Given the description of an element on the screen output the (x, y) to click on. 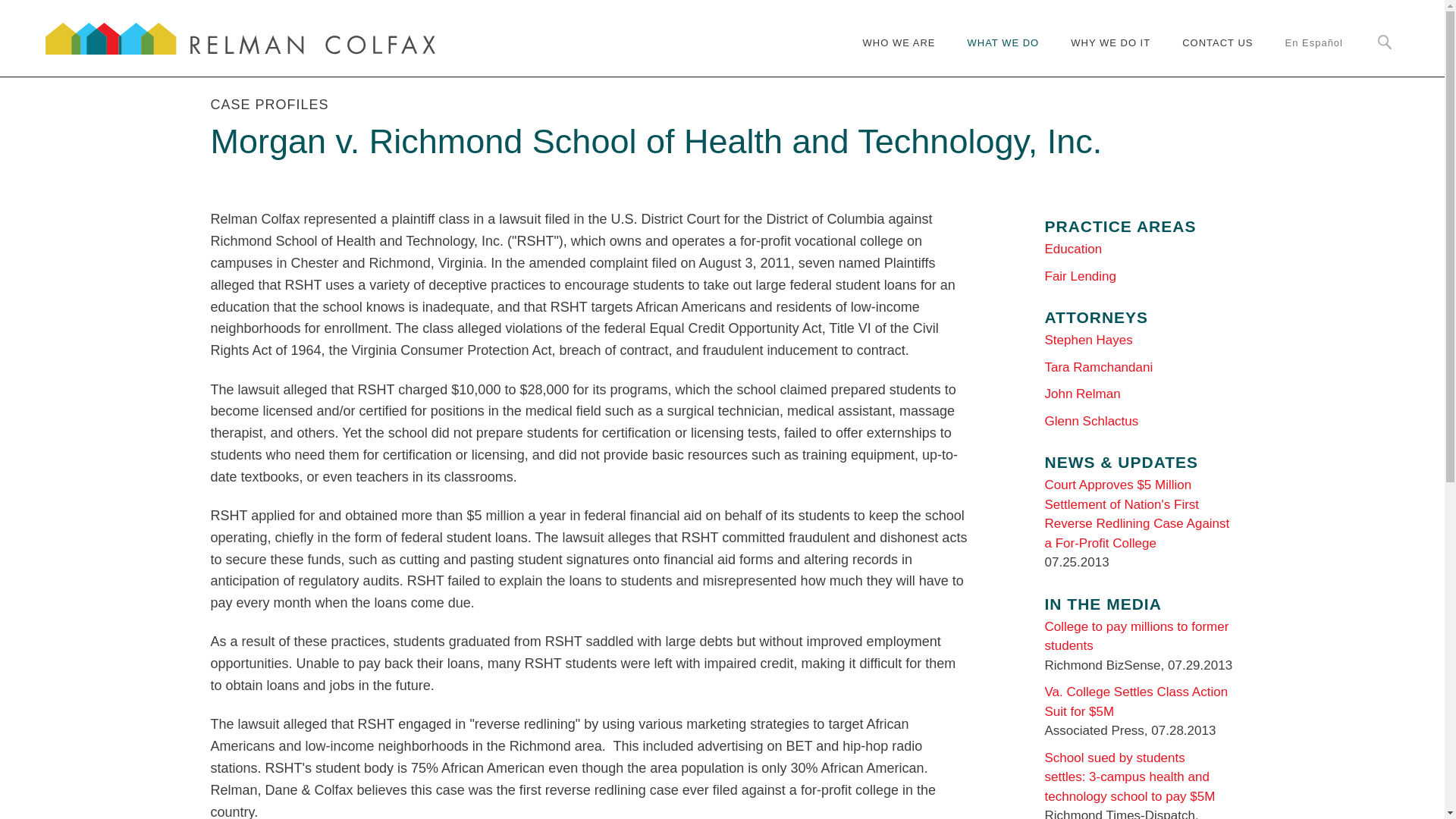
CONTACT US (1217, 52)
Menu (676, 18)
WHAT WE DO (1003, 52)
WHY WE DO IT (1109, 52)
College to pay millions to former students (1136, 636)
WHO WE ARE (905, 52)
Glenn Schlactus (1091, 421)
SEARCHBUTTON (1384, 42)
Stephen Hayes (1088, 339)
Tara Ramchandani (1099, 367)
